Given the description of an element on the screen output the (x, y) to click on. 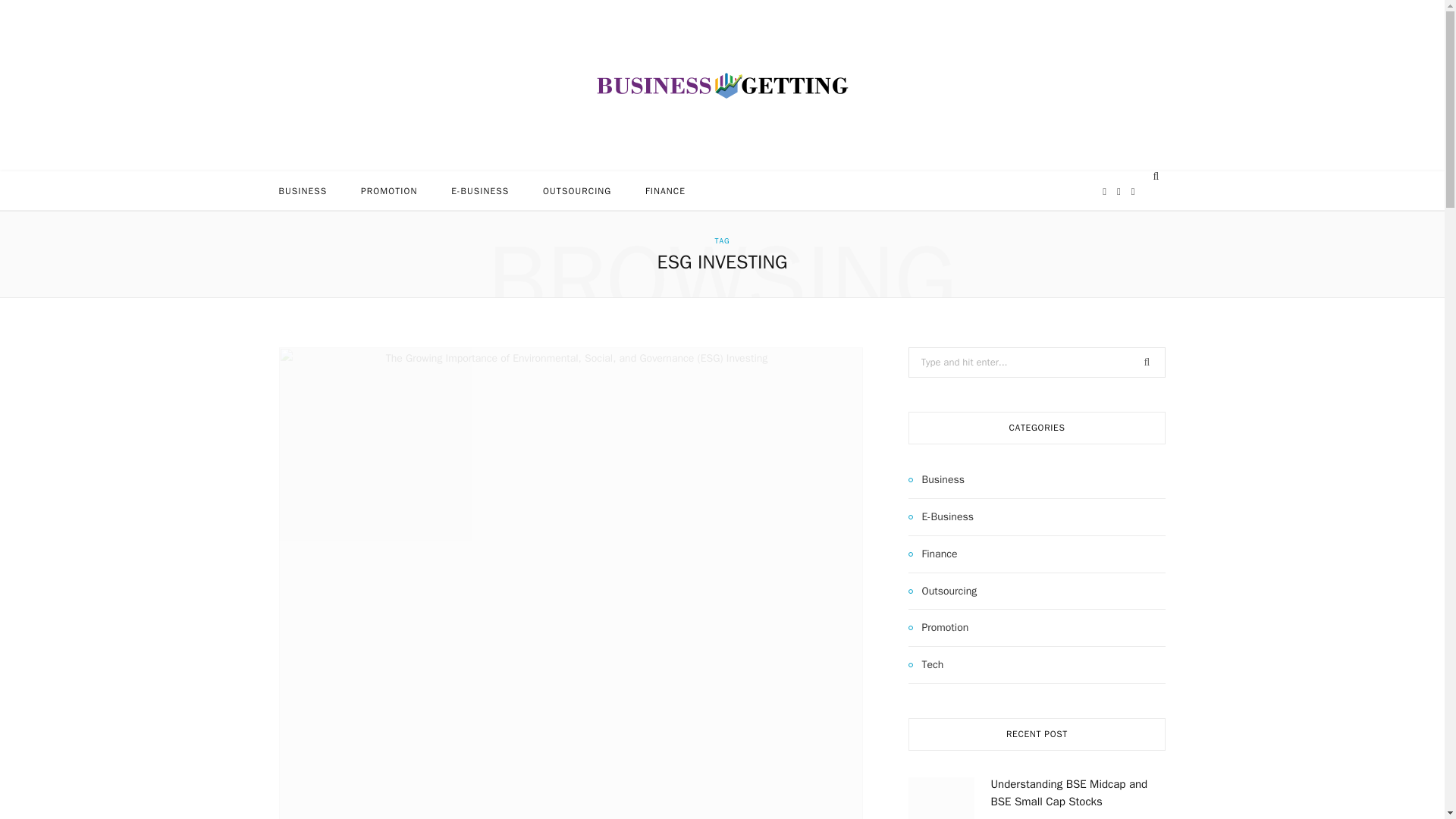
Search for: (1037, 362)
Twitter (1118, 191)
Facebook (1103, 191)
OUTSOURCING (576, 190)
E-BUSINESS (479, 190)
Business Getting (722, 85)
PROMOTION (389, 190)
FINANCE (665, 190)
Business (935, 479)
BUSINESS (302, 190)
Understanding BSE Midcap and BSE Small Cap Stocks (941, 798)
Tech (925, 665)
Finance (933, 554)
Understanding BSE Midcap and BSE Small Cap Stocks (1068, 792)
Promotion (938, 628)
